Given the description of an element on the screen output the (x, y) to click on. 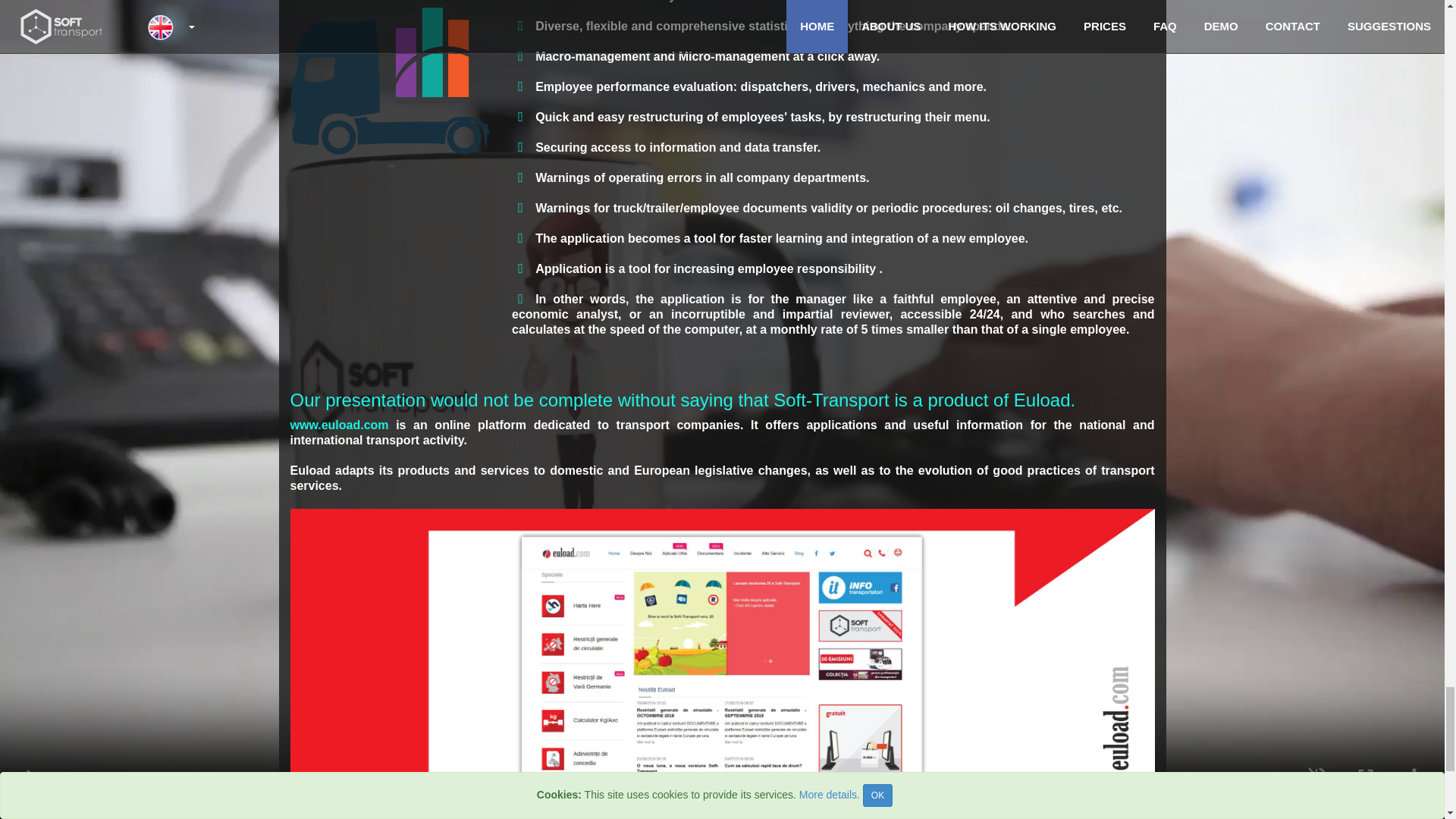
www.euload.com (338, 424)
